Given the description of an element on the screen output the (x, y) to click on. 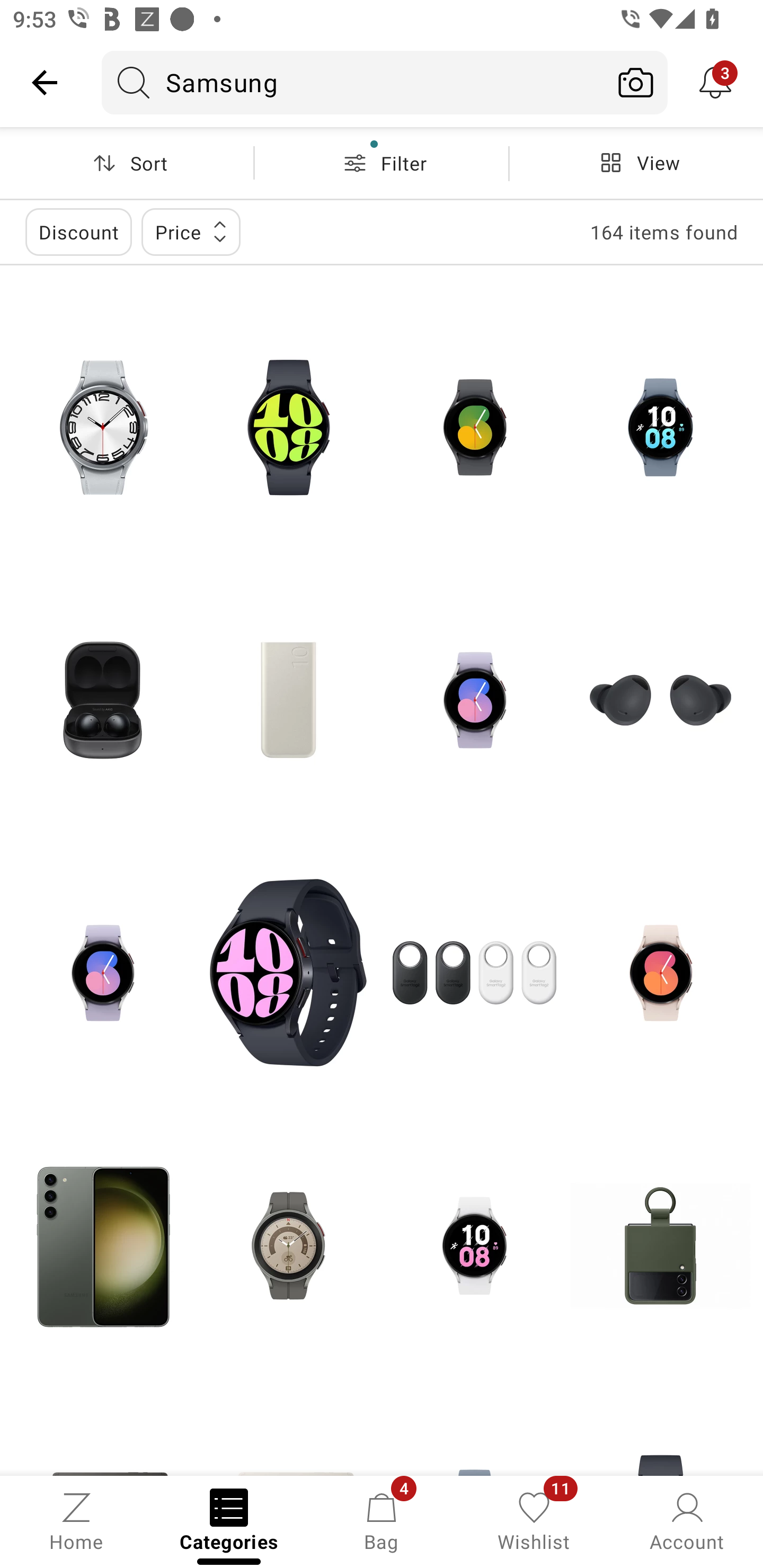
Navigate up (44, 82)
Samsung (352, 82)
Sort (126, 163)
Filter (381, 163)
View (636, 163)
Discount (78, 231)
Price (190, 231)
Home (76, 1519)
Bag, 4 new notifications Bag (381, 1519)
Wishlist, 11 new notifications Wishlist (533, 1519)
Account (686, 1519)
